Given the description of an element on the screen output the (x, y) to click on. 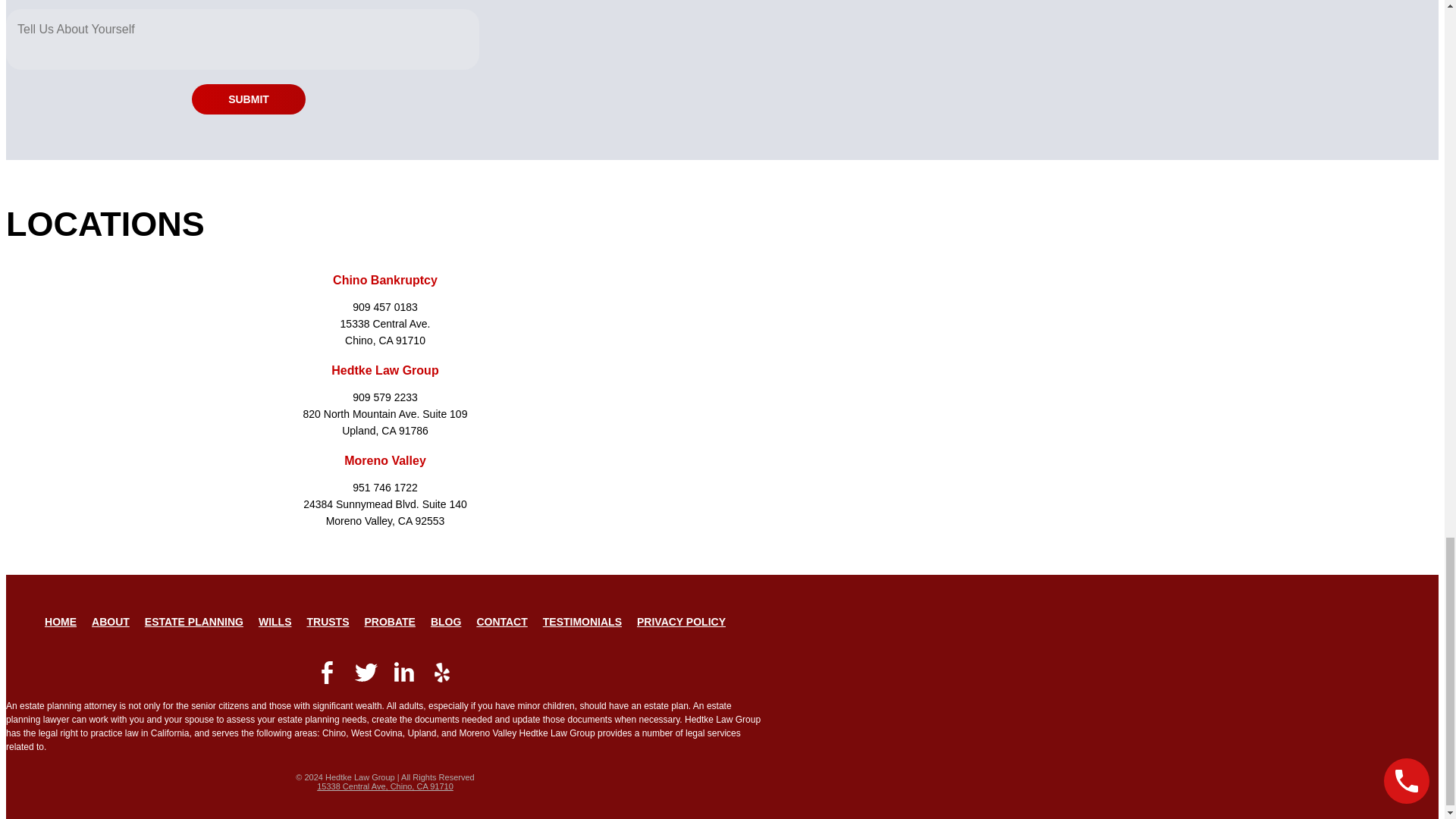
Submit (248, 99)
